Given the description of an element on the screen output the (x, y) to click on. 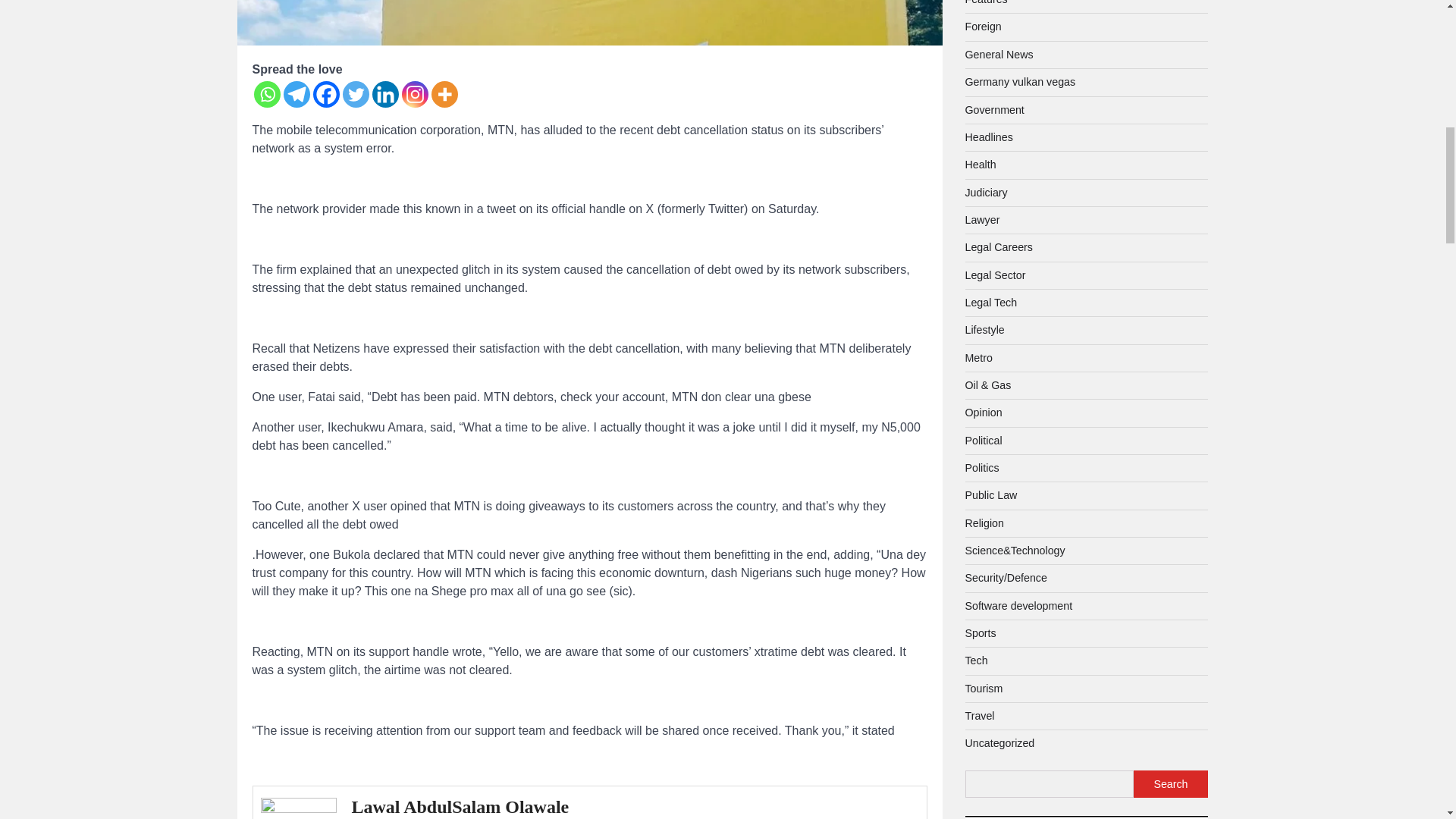
Facebook (326, 94)
Twitter (355, 94)
Telegram (296, 94)
More (443, 94)
Instagram (414, 94)
Whatsapp (266, 94)
Linkedin (384, 94)
